Given the description of an element on the screen output the (x, y) to click on. 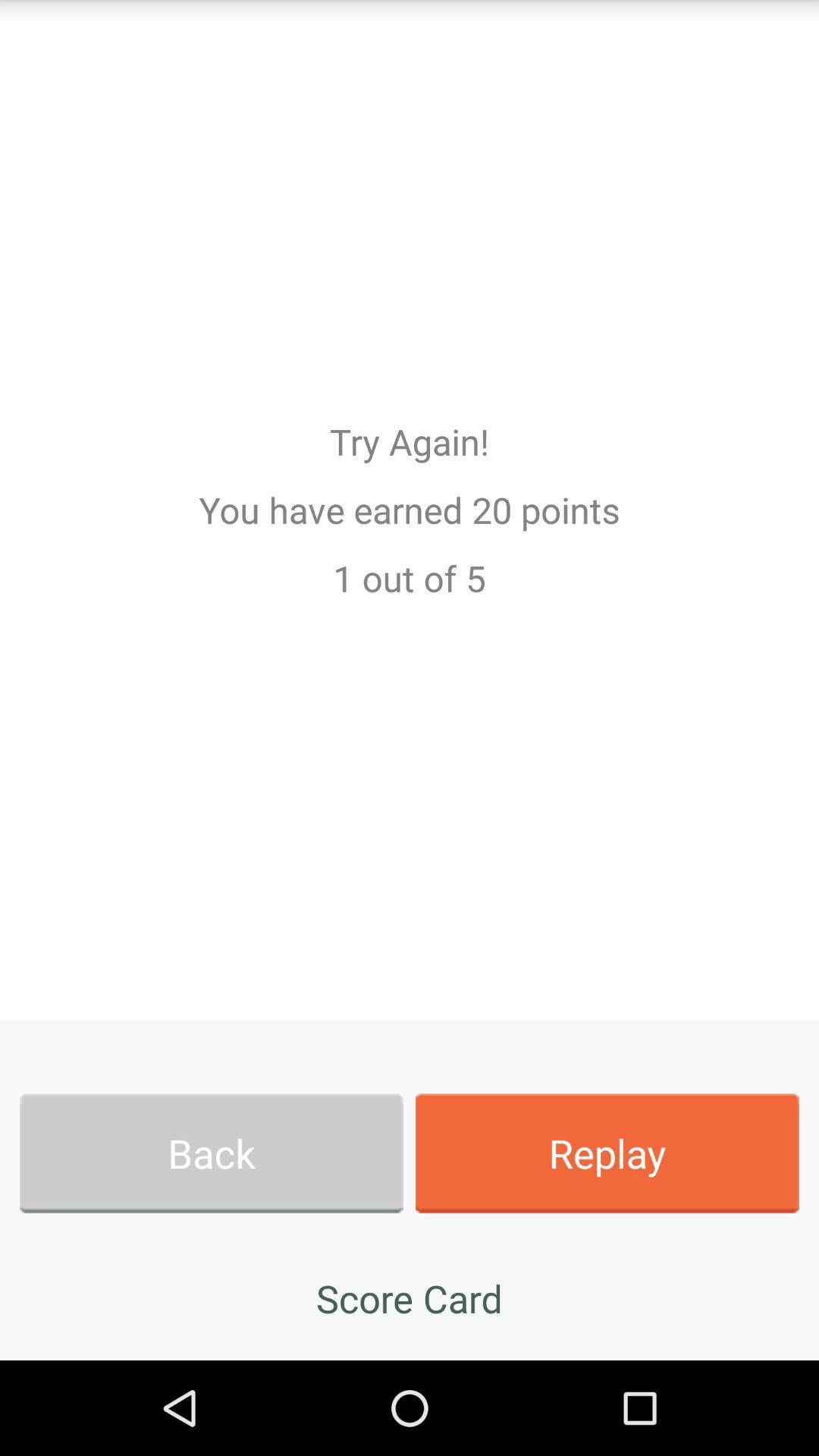
launch the app above the score card item (211, 1153)
